Given the description of an element on the screen output the (x, y) to click on. 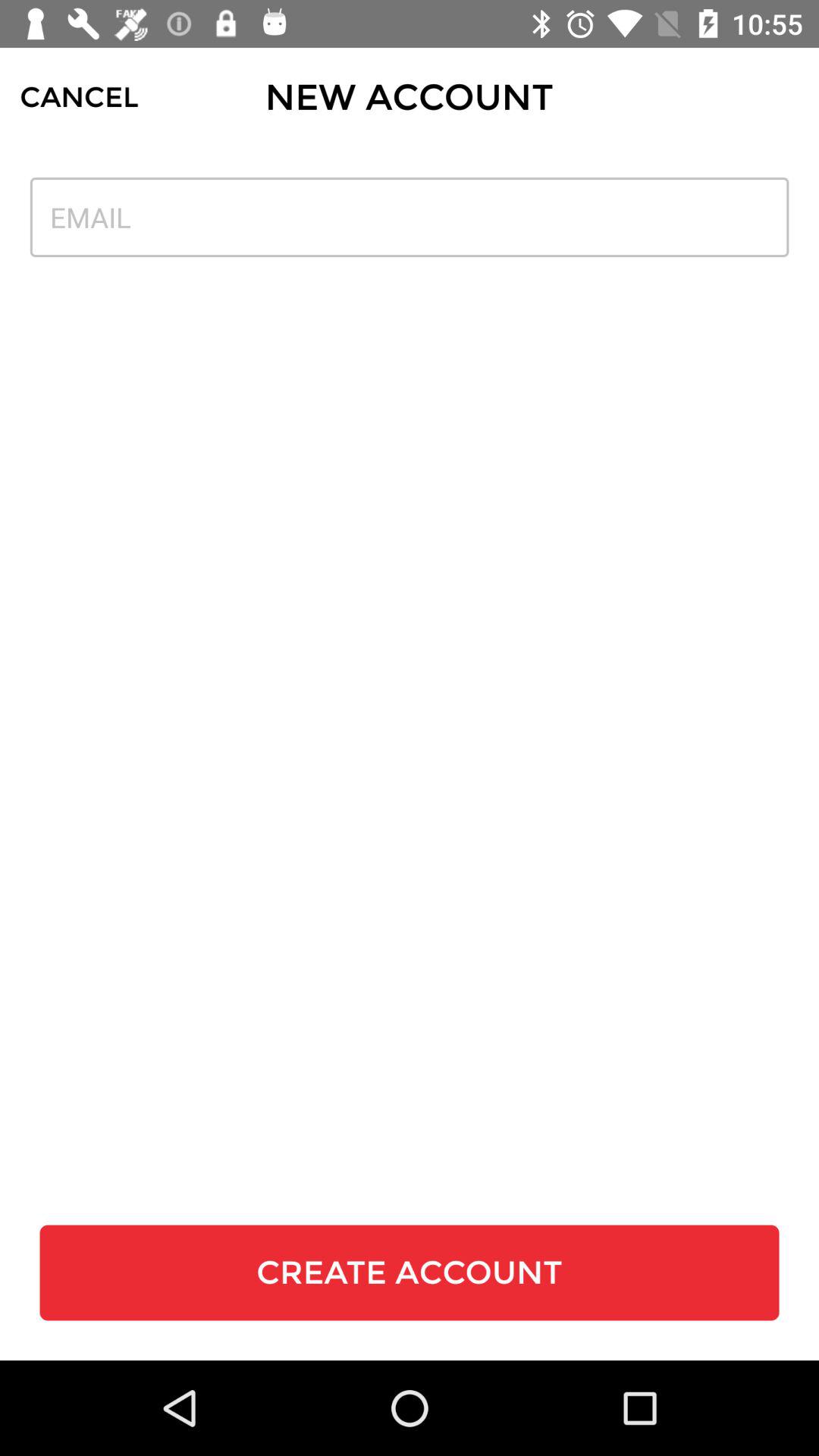
press the create account item (409, 1272)
